Given the description of an element on the screen output the (x, y) to click on. 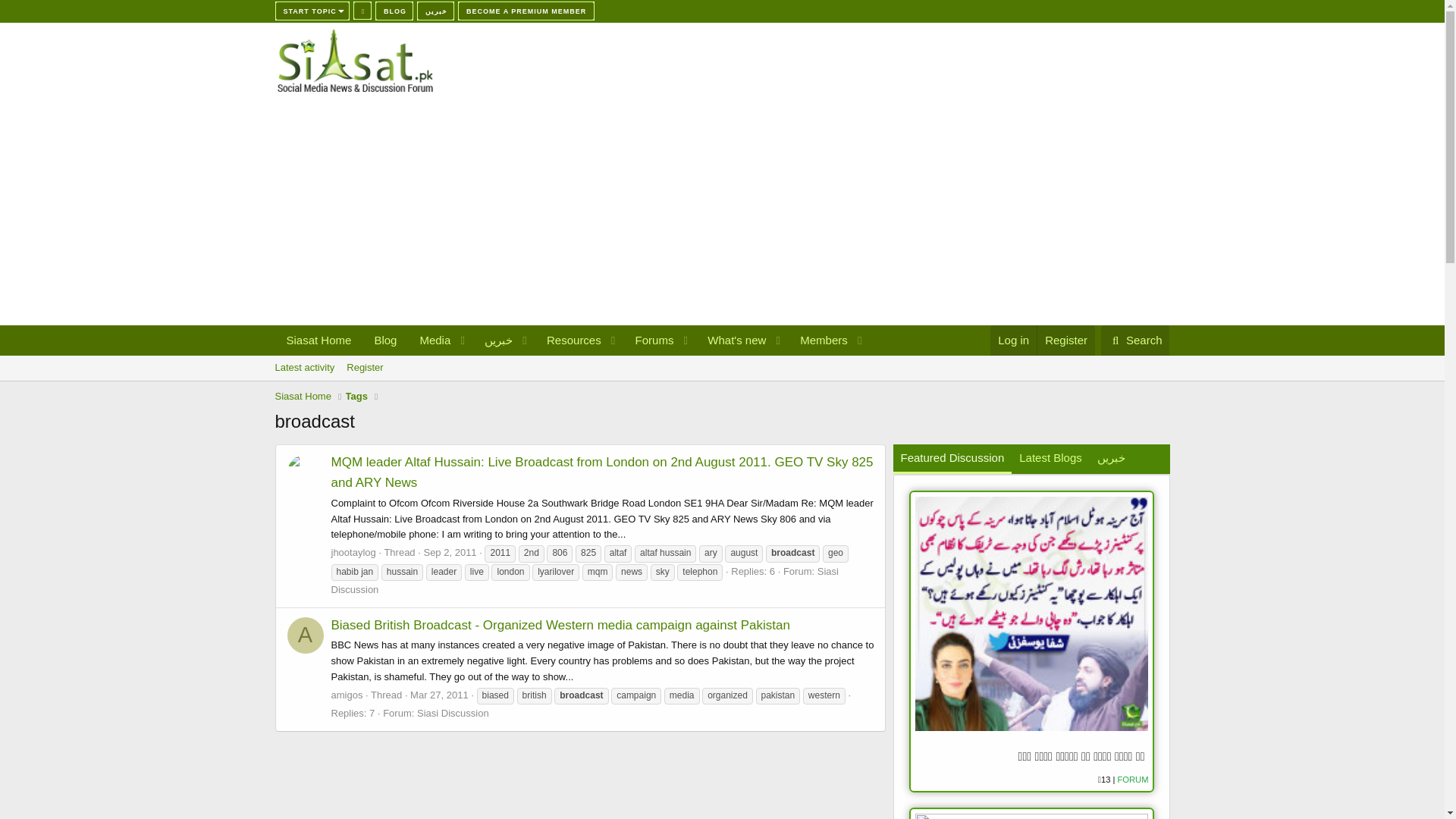
BLOG (394, 10)
Mar 27, 2011 at 4:45 AM (439, 695)
Search (1135, 340)
New payment methods available (526, 10)
START TOPIC (312, 10)
BECOME A PREMIUM MEMBER (526, 10)
Sep 2, 2011 at 5:15 PM (449, 552)
Advertisement (720, 384)
